Given the description of an element on the screen output the (x, y) to click on. 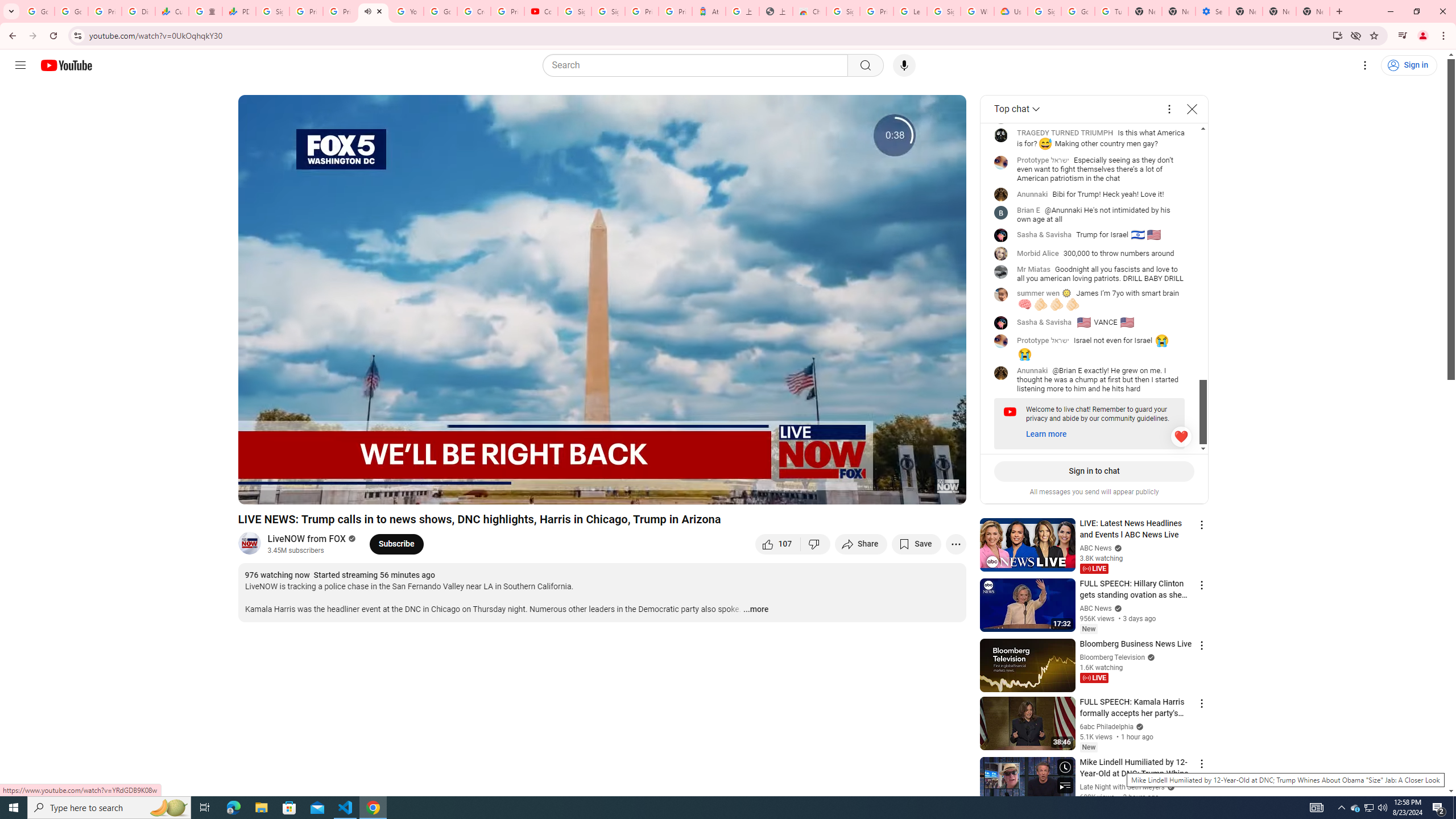
Mute (m) (312, 490)
Google Workspace Admin Community (37, 11)
Google Account Help (1077, 11)
YouTube (406, 11)
New Tab (1313, 11)
Skip ahead to live broadcast. (339, 490)
